Given the description of an element on the screen output the (x, y) to click on. 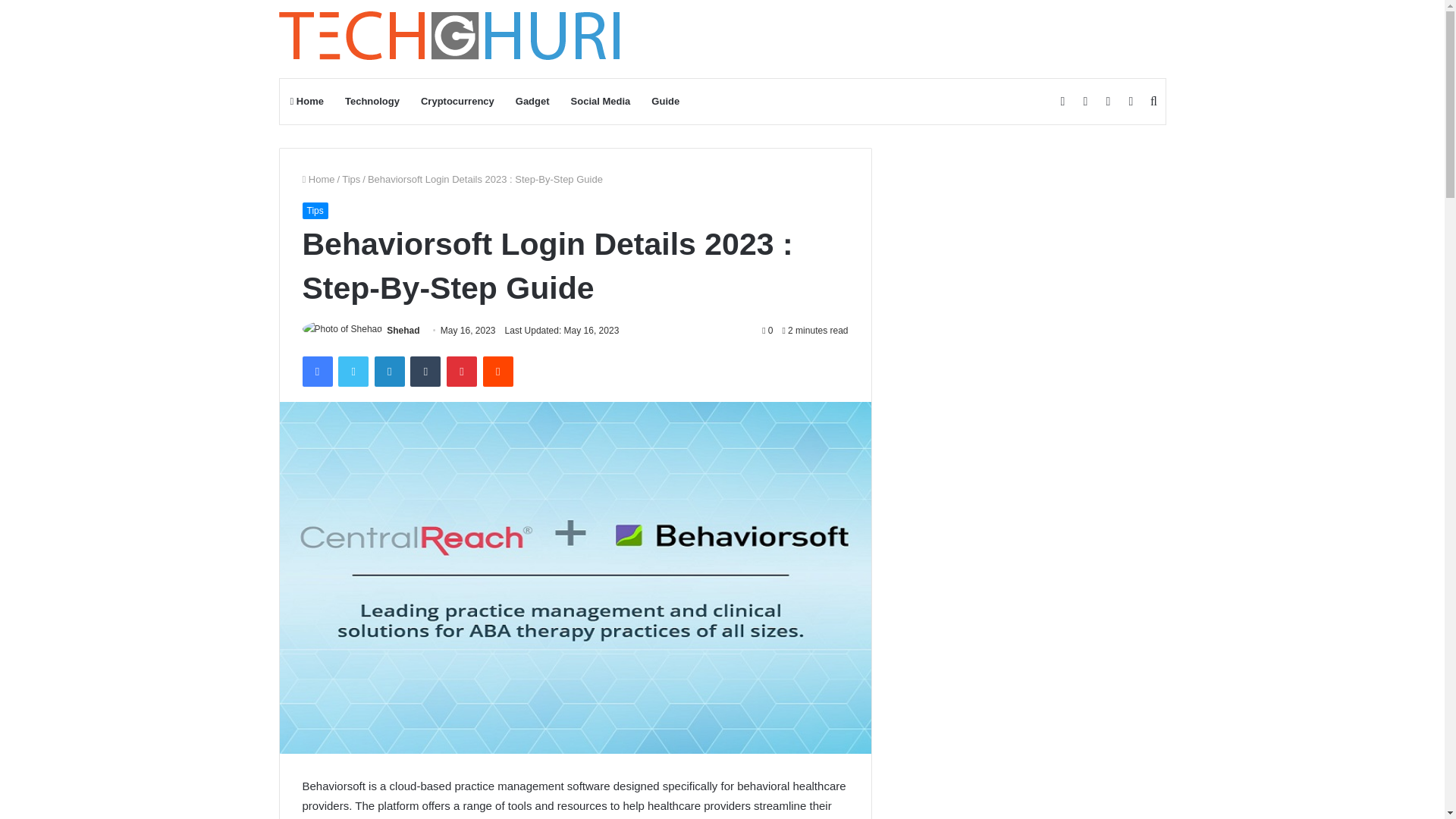
Guide (665, 101)
Cryptocurrency (457, 101)
Facebook (316, 371)
TechGhuri (451, 38)
Twitter (352, 371)
Technology (372, 101)
Home (317, 179)
Tips (350, 179)
LinkedIn (389, 371)
Home (306, 101)
